Given the description of an element on the screen output the (x, y) to click on. 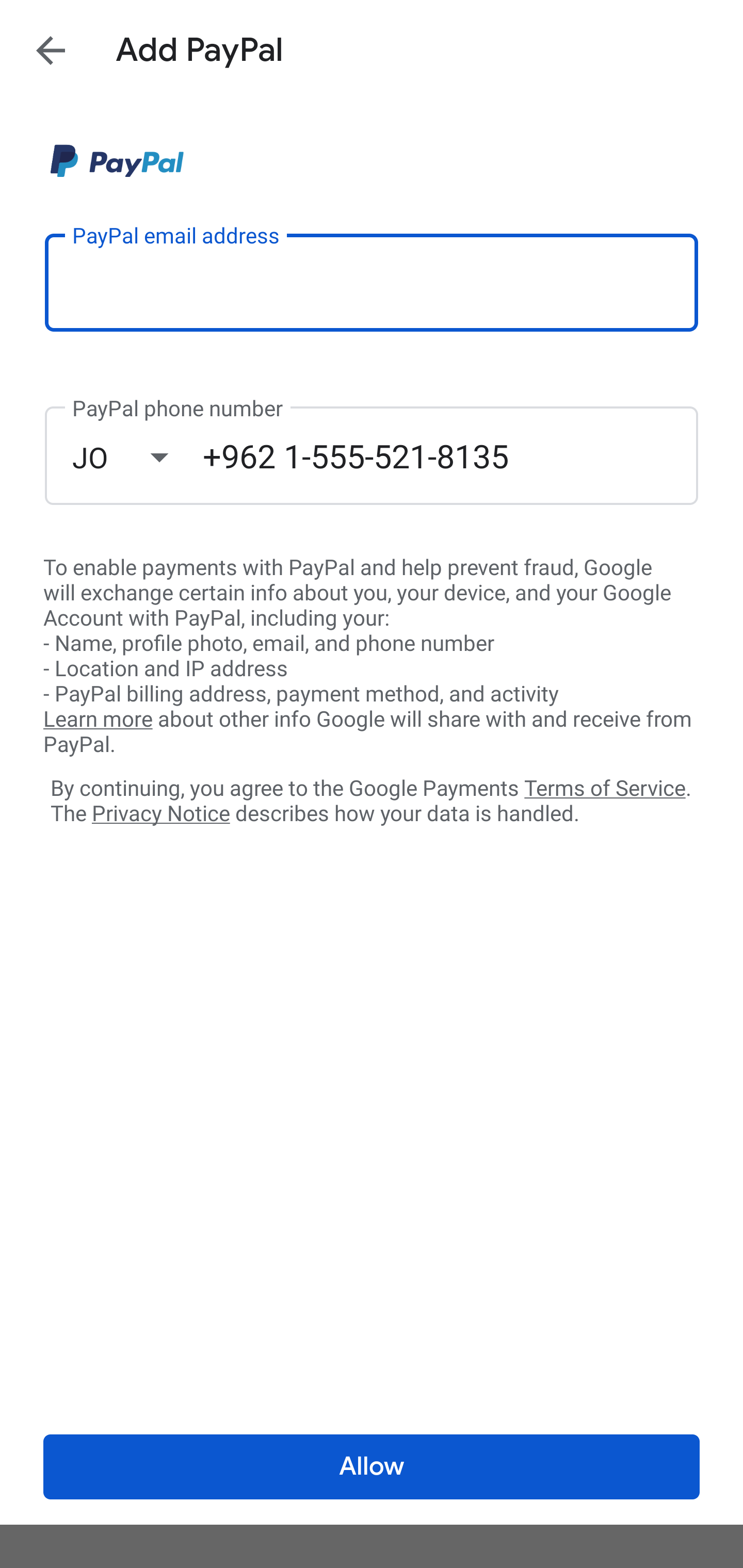
Navigate up (50, 50)
PayPal email address (371, 282)
JO (137, 456)
Learn more (97, 719)
Terms of Service (604, 787)
Privacy Notice (160, 814)
Allow (371, 1466)
